Given the description of an element on the screen output the (x, y) to click on. 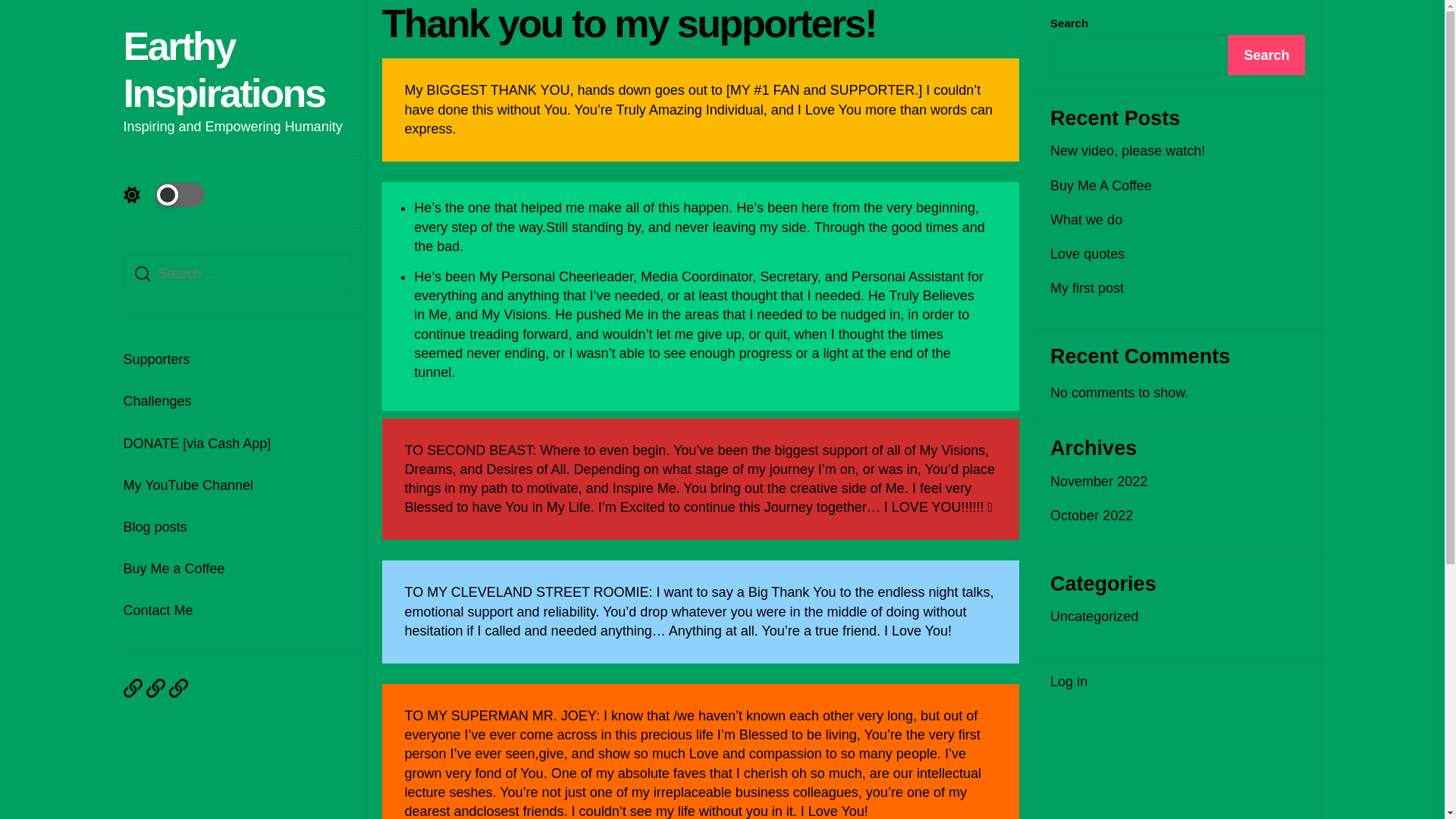
Search (1265, 55)
Contact Me (236, 610)
Uncategorized (154, 686)
Blog posts (236, 526)
October 2022 (1093, 515)
Challenges (236, 401)
November 2022 (1101, 480)
Buy Me A Coffee (1102, 185)
Uncategorized (131, 686)
Supporters (236, 359)
